Given the description of an element on the screen output the (x, y) to click on. 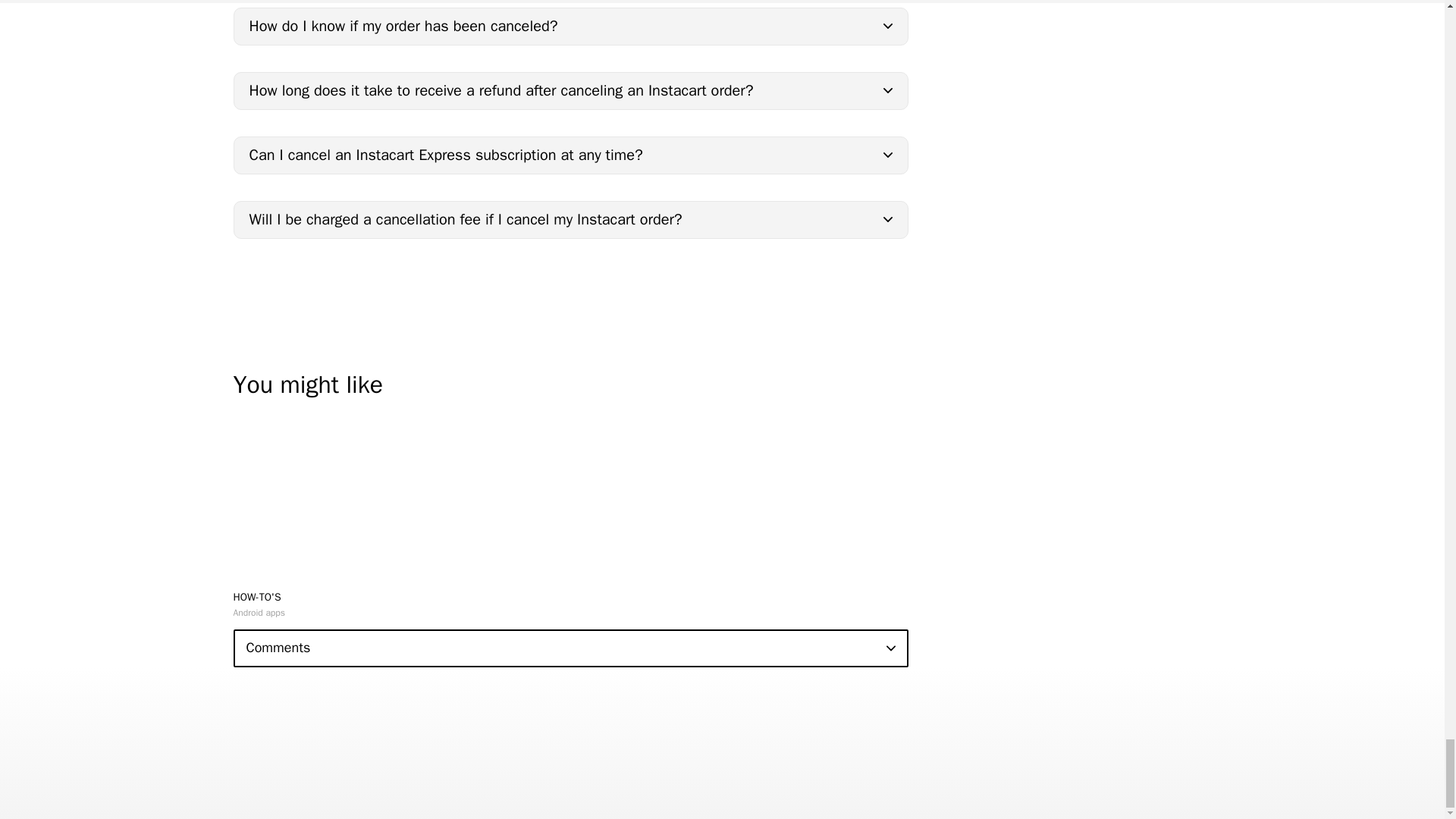
HOW-TO'S (256, 596)
Android apps (258, 612)
Can I cancel an Instacart Express subscription at any time? (570, 155)
How do I know if my order has been canceled? (570, 26)
Comments (570, 648)
